Given the description of an element on the screen output the (x, y) to click on. 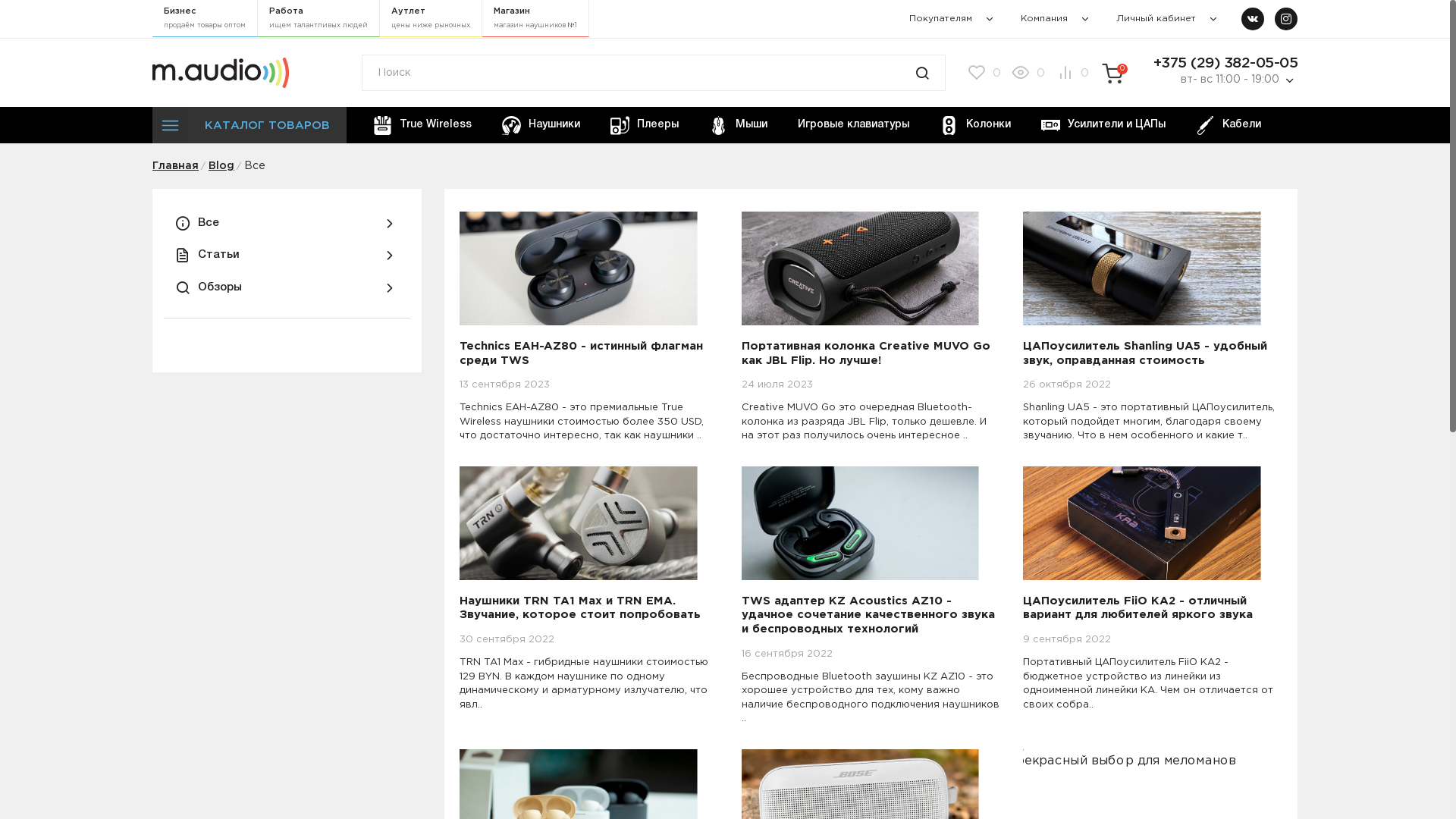
0 Element type: text (982, 73)
0 Element type: text (1026, 73)
Blog Element type: text (221, 165)
True Wireless Element type: text (422, 124)
0 Element type: text (1112, 73)
0 Element type: text (1070, 73)
